Given the description of an element on the screen output the (x, y) to click on. 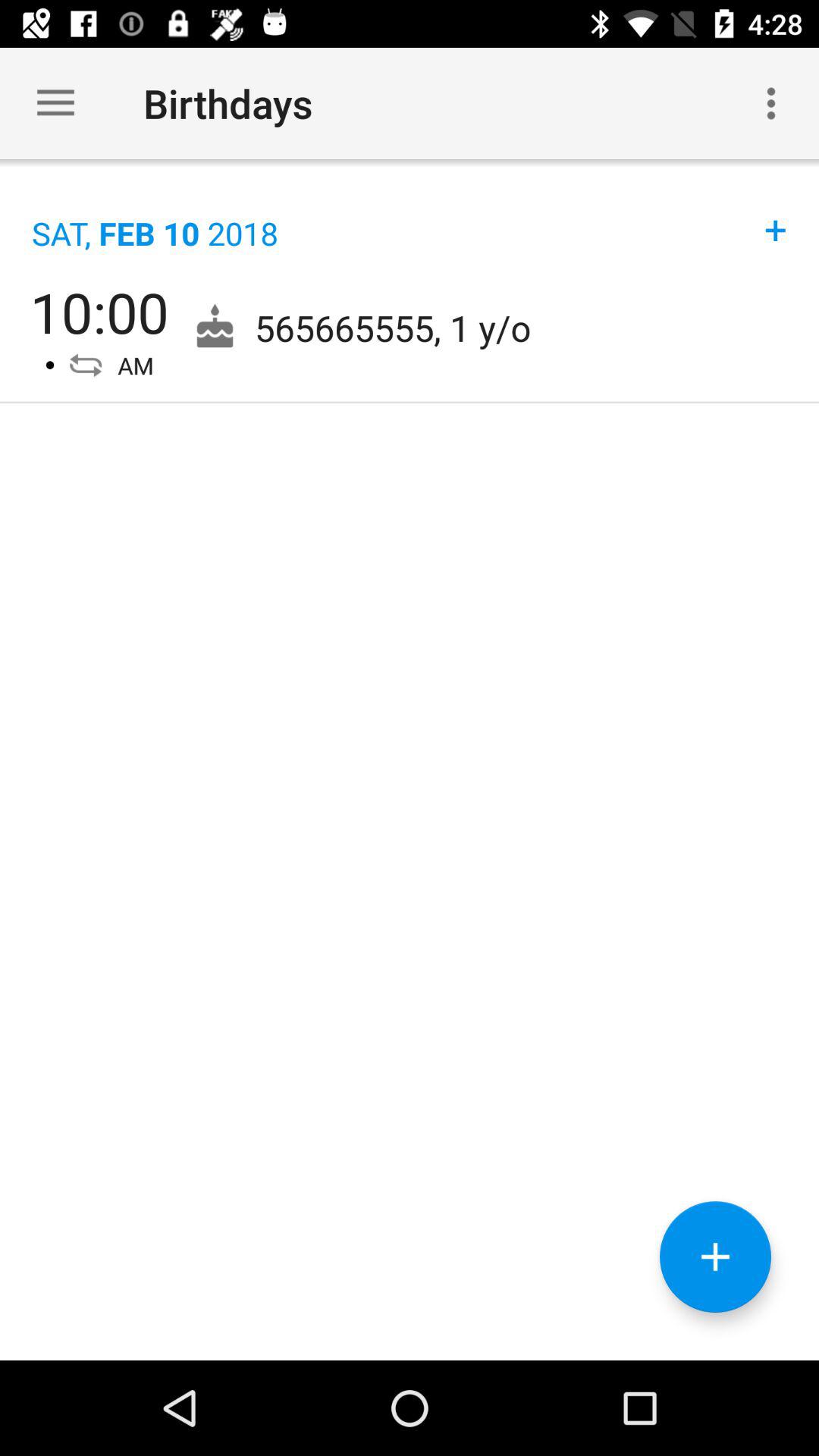
scroll until + item (775, 214)
